Given the description of an element on the screen output the (x, y) to click on. 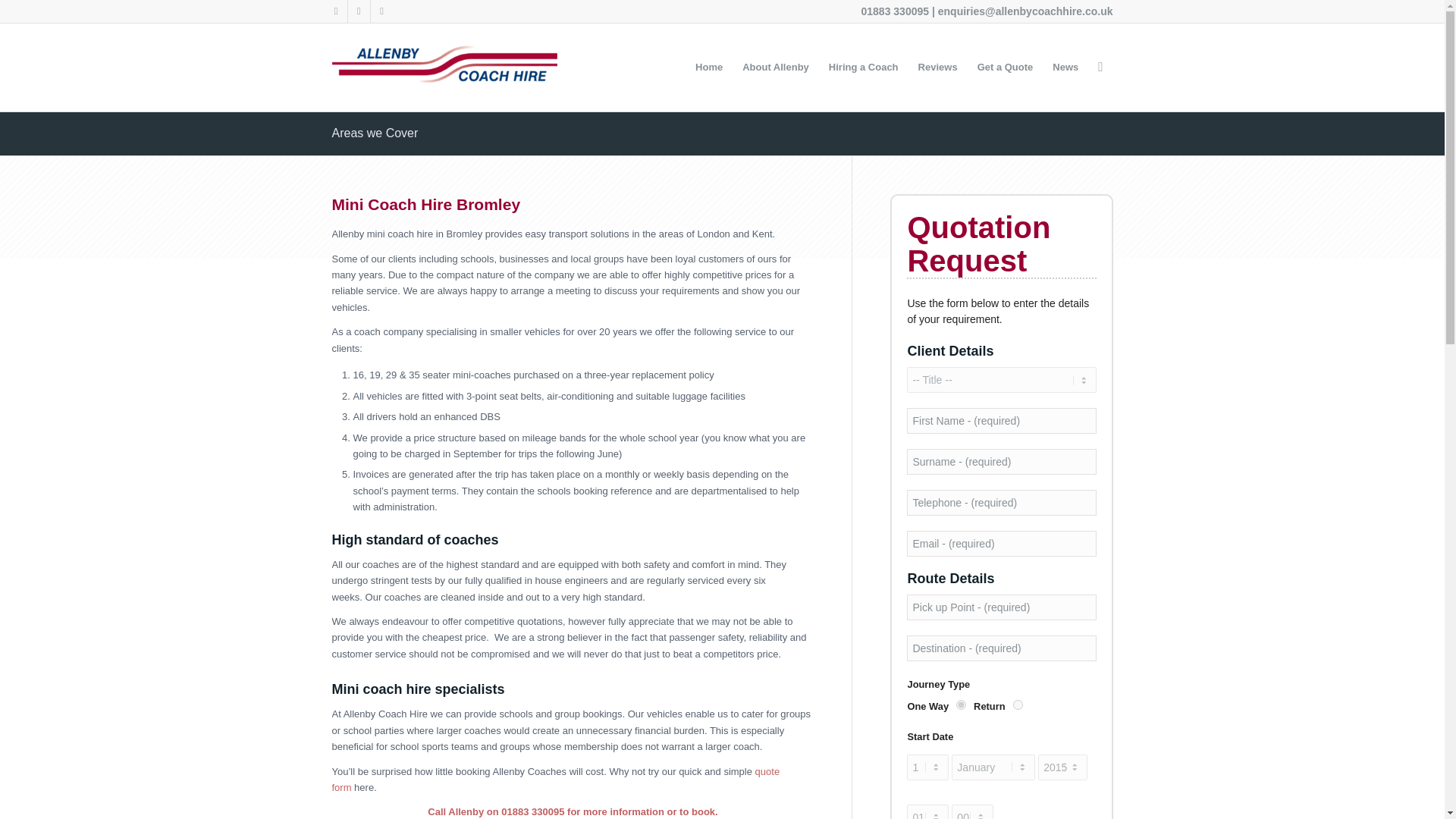
Yes (961, 705)
Mini Coach Hire Bromley (426, 203)
Facebook (358, 11)
No (1018, 705)
01883 330095 (895, 10)
Permanent Link: Areas we Cover (375, 132)
Twitter (335, 11)
Hiring a Coach (863, 67)
quote form (555, 779)
Get a Coach Hire Quotation (555, 779)
Areas we Cover (375, 132)
Permanent Link: Mini Coach Hire Bromley (426, 203)
About Allenby (775, 67)
Gplus (381, 11)
